Given the description of an element on the screen output the (x, y) to click on. 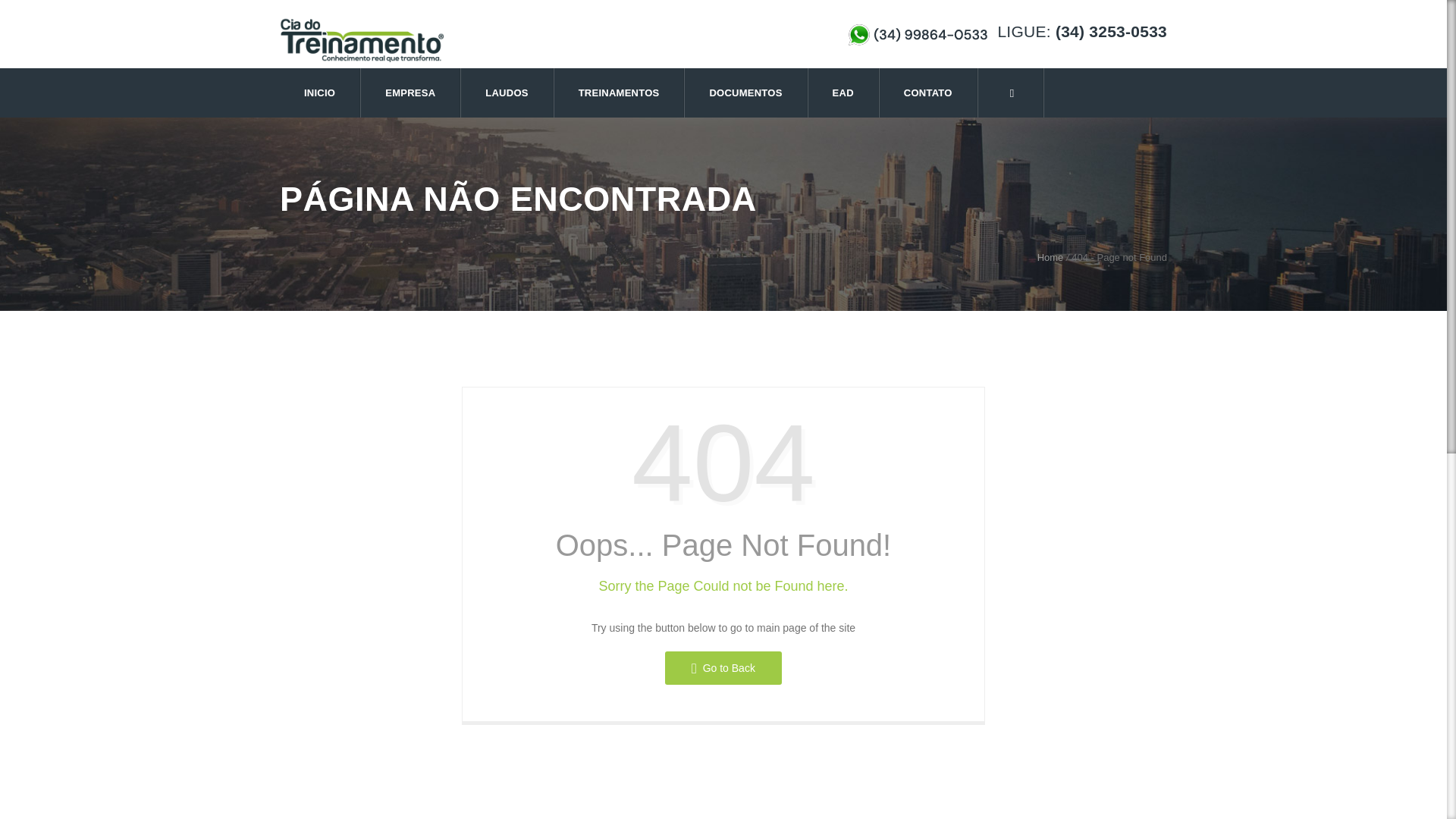
TREINAMENTOS (619, 92)
INICIO (320, 92)
LAUDOS (507, 92)
EMPRESA (411, 92)
